Given the description of an element on the screen output the (x, y) to click on. 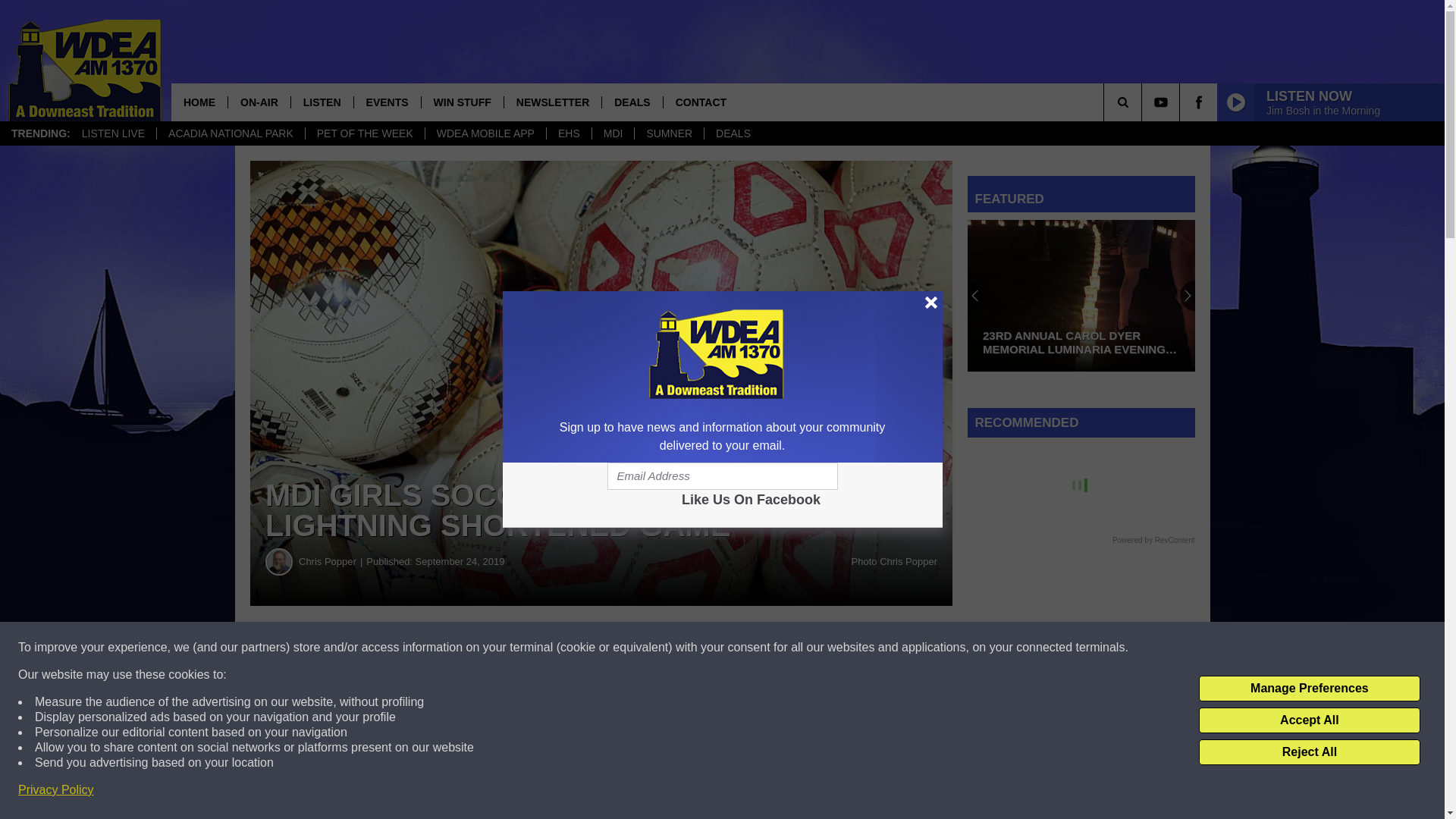
ACADIA NATIONAL PARK (229, 133)
SEARCH (1144, 102)
SEARCH (1144, 102)
PET OF THE WEEK (364, 133)
DEALS (732, 133)
SUMNER (668, 133)
DEALS (631, 102)
Privacy Policy (55, 789)
Manage Preferences (1309, 688)
EVENTS (386, 102)
LISTEN (321, 102)
Reject All (1309, 751)
WDEA MOBILE APP (485, 133)
Share on Facebook (460, 647)
WIN STUFF (461, 102)
